Given the description of an element on the screen output the (x, y) to click on. 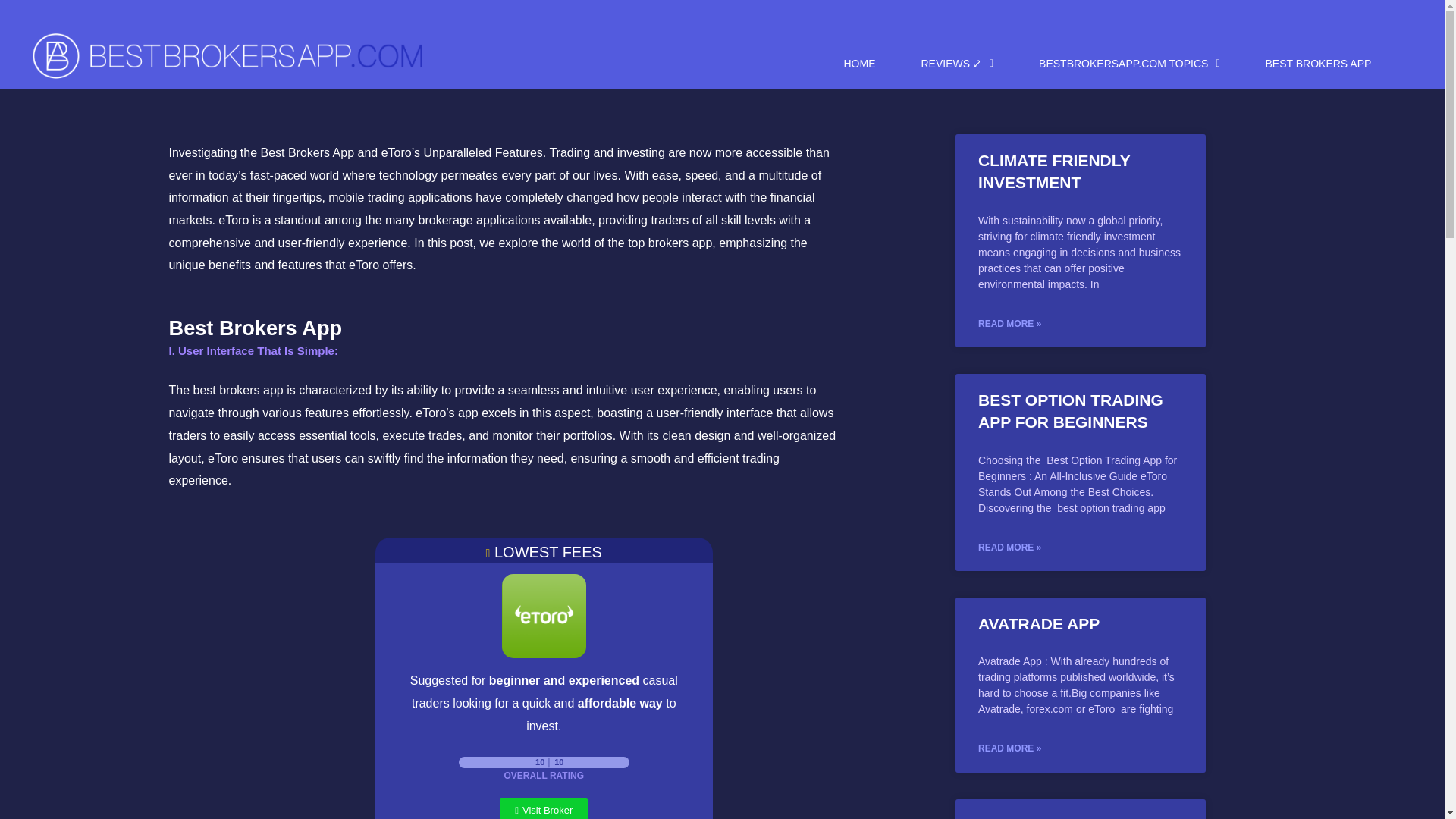
BESTBROKERSAPP.COM TOPICS (1128, 63)
HOME (859, 63)
Visit Broker (543, 808)
BEST BROKERS APP (1318, 63)
